Given the description of an element on the screen output the (x, y) to click on. 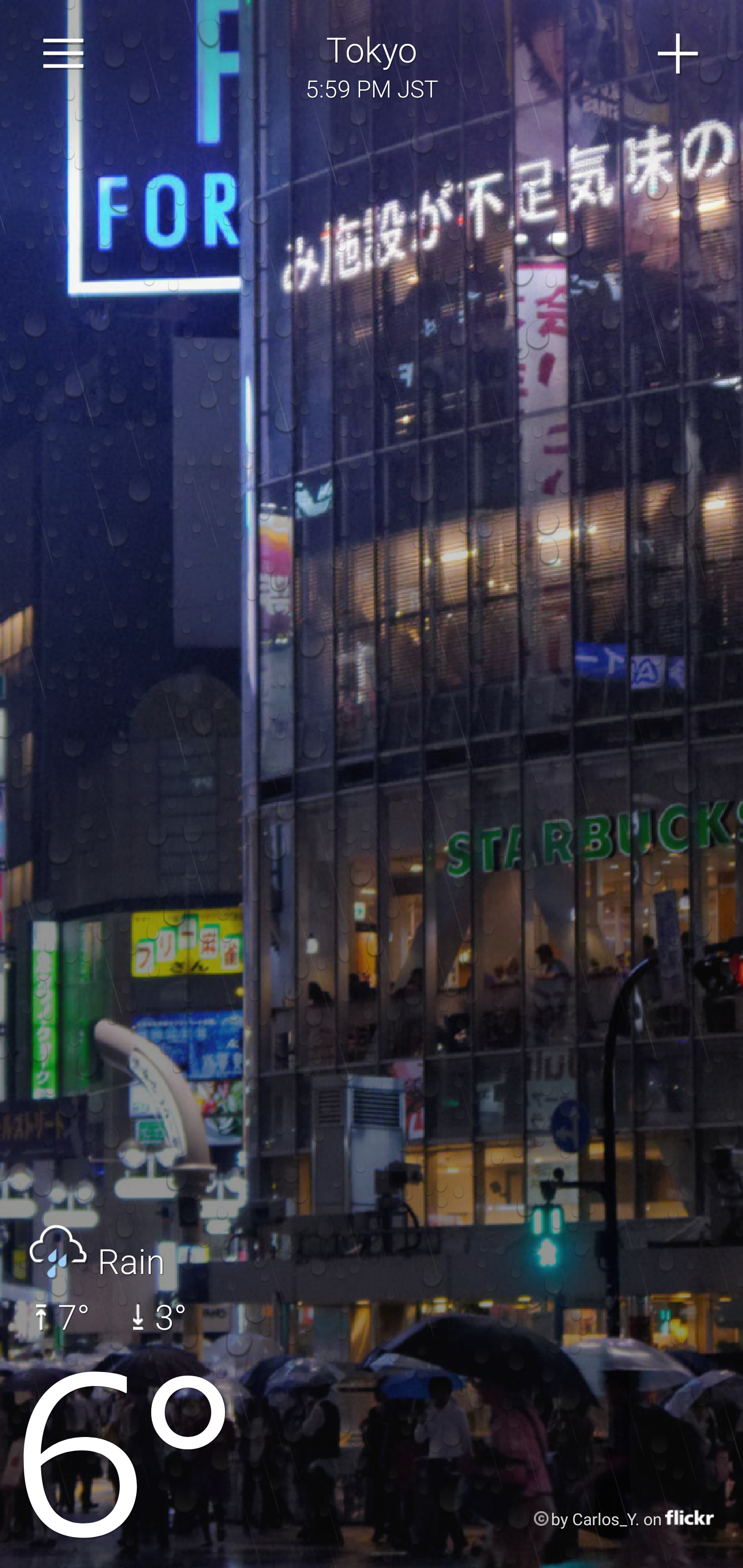
Sidebar (64, 54)
Add City (678, 53)
